Given the description of an element on the screen output the (x, y) to click on. 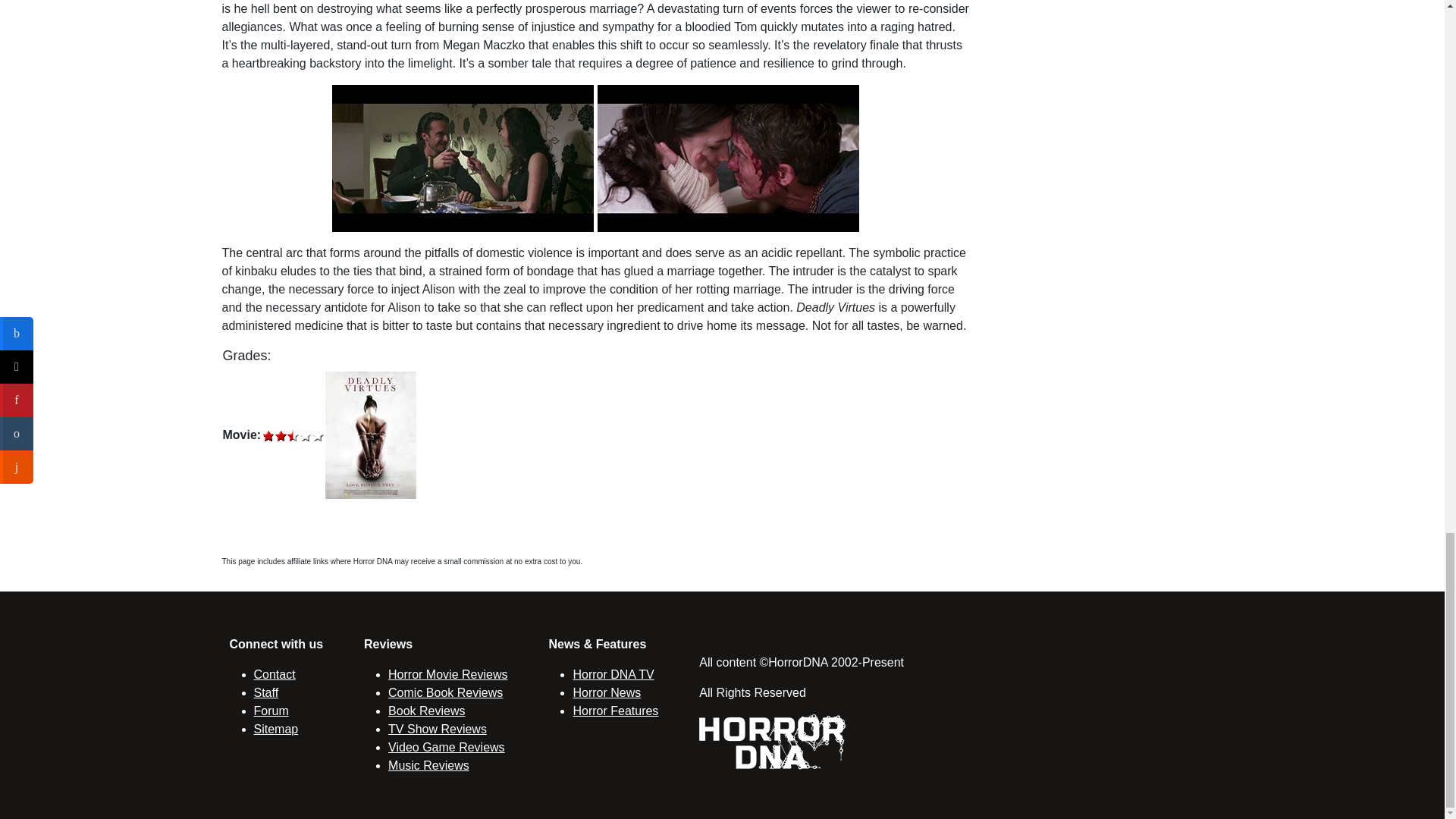
Horror DNA TV (612, 674)
Horror Features (615, 710)
Comic Book Reviews (445, 692)
Contact (274, 674)
Horror News (606, 692)
Forum (270, 710)
Horror Movie Reviews (447, 674)
Book Reviews (426, 710)
Video Game Reviews (446, 747)
Staff (265, 692)
